Given the description of an element on the screen output the (x, y) to click on. 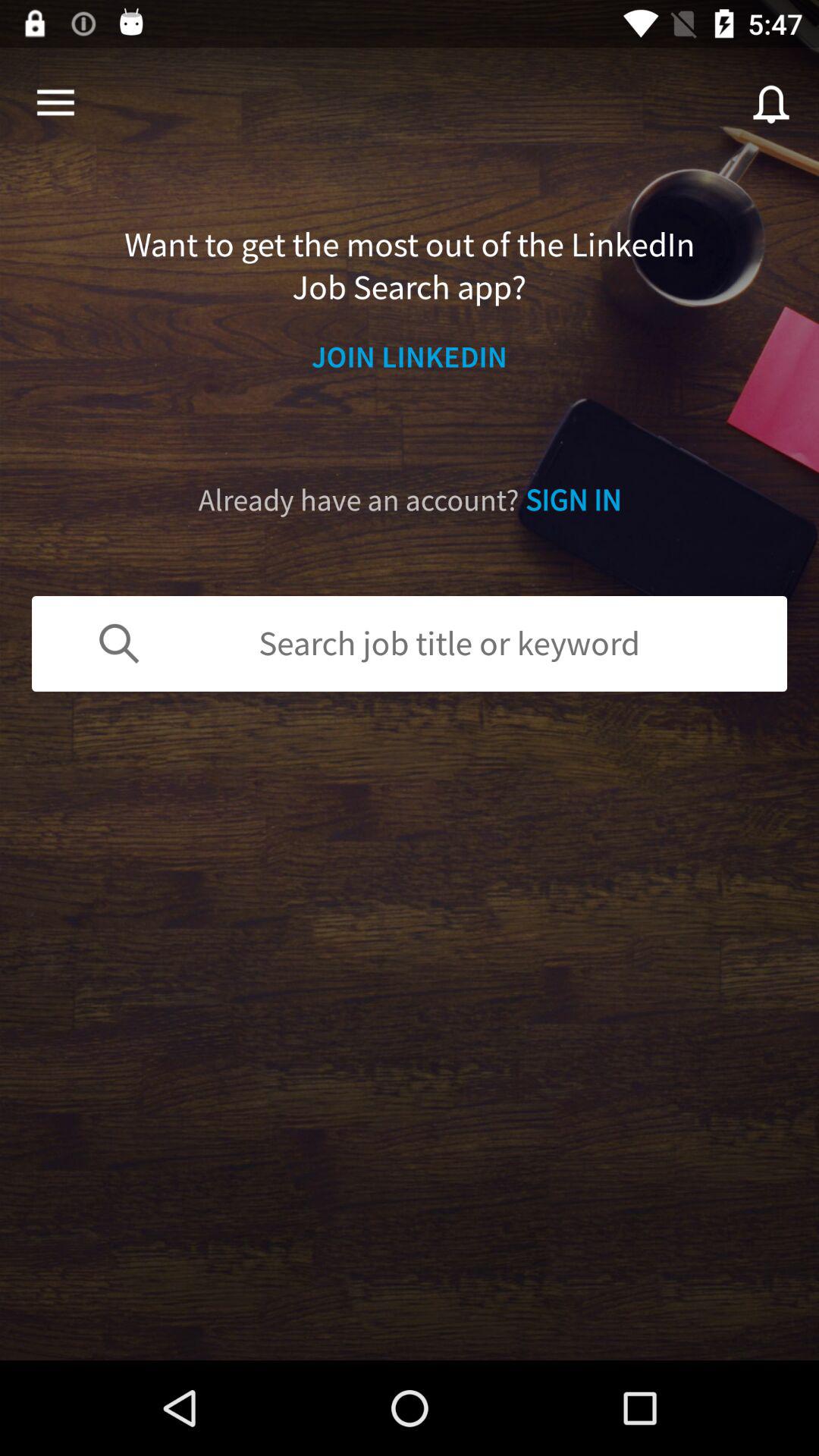
press item above want to get icon (55, 103)
